Given the description of an element on the screen output the (x, y) to click on. 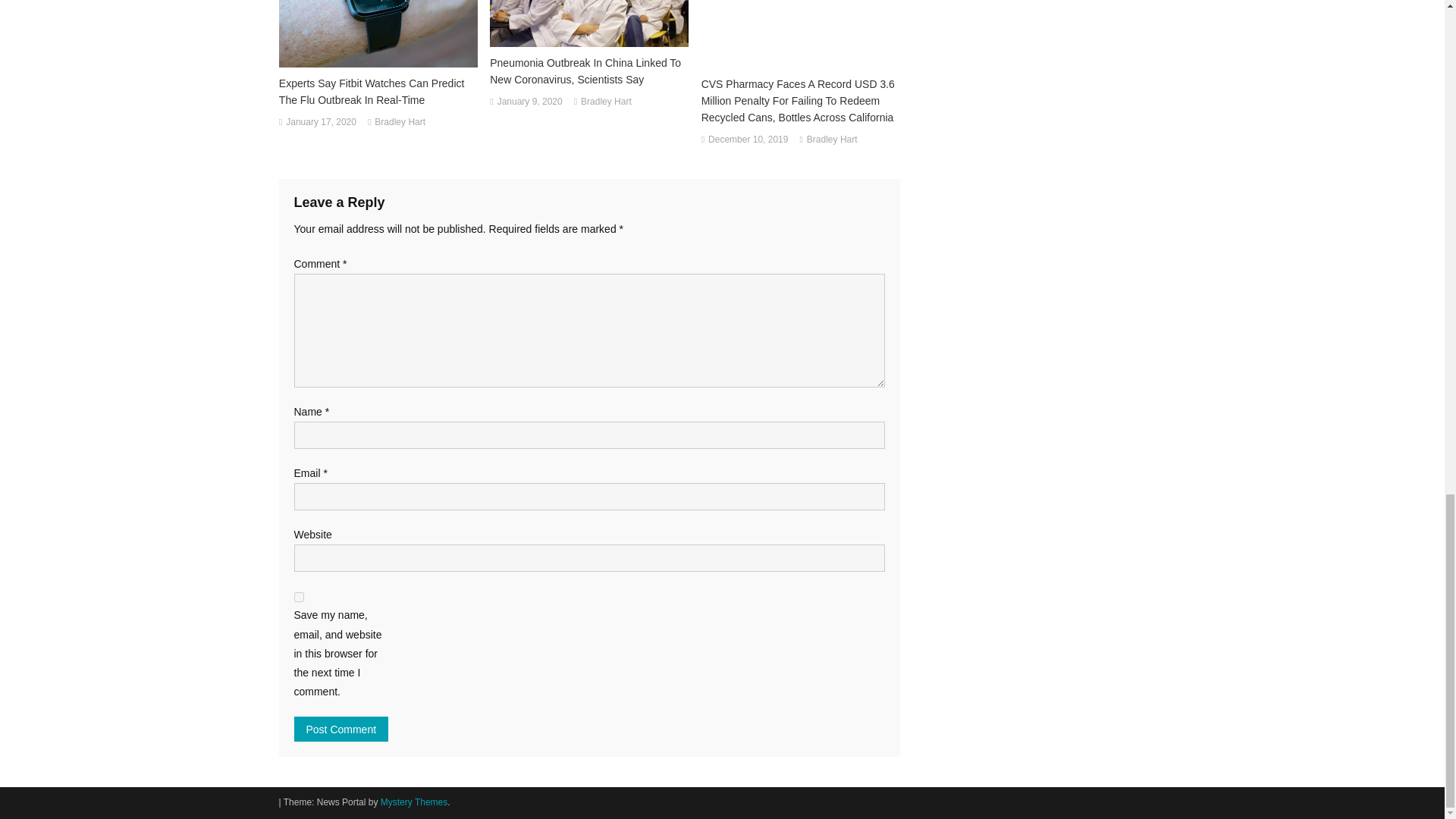
January 9, 2020 (529, 102)
Bradley Hart (605, 102)
Mystery Themes (413, 801)
December 10, 2019 (747, 139)
yes (299, 596)
Bradley Hart (399, 122)
Post Comment (341, 729)
